Given the description of an element on the screen output the (x, y) to click on. 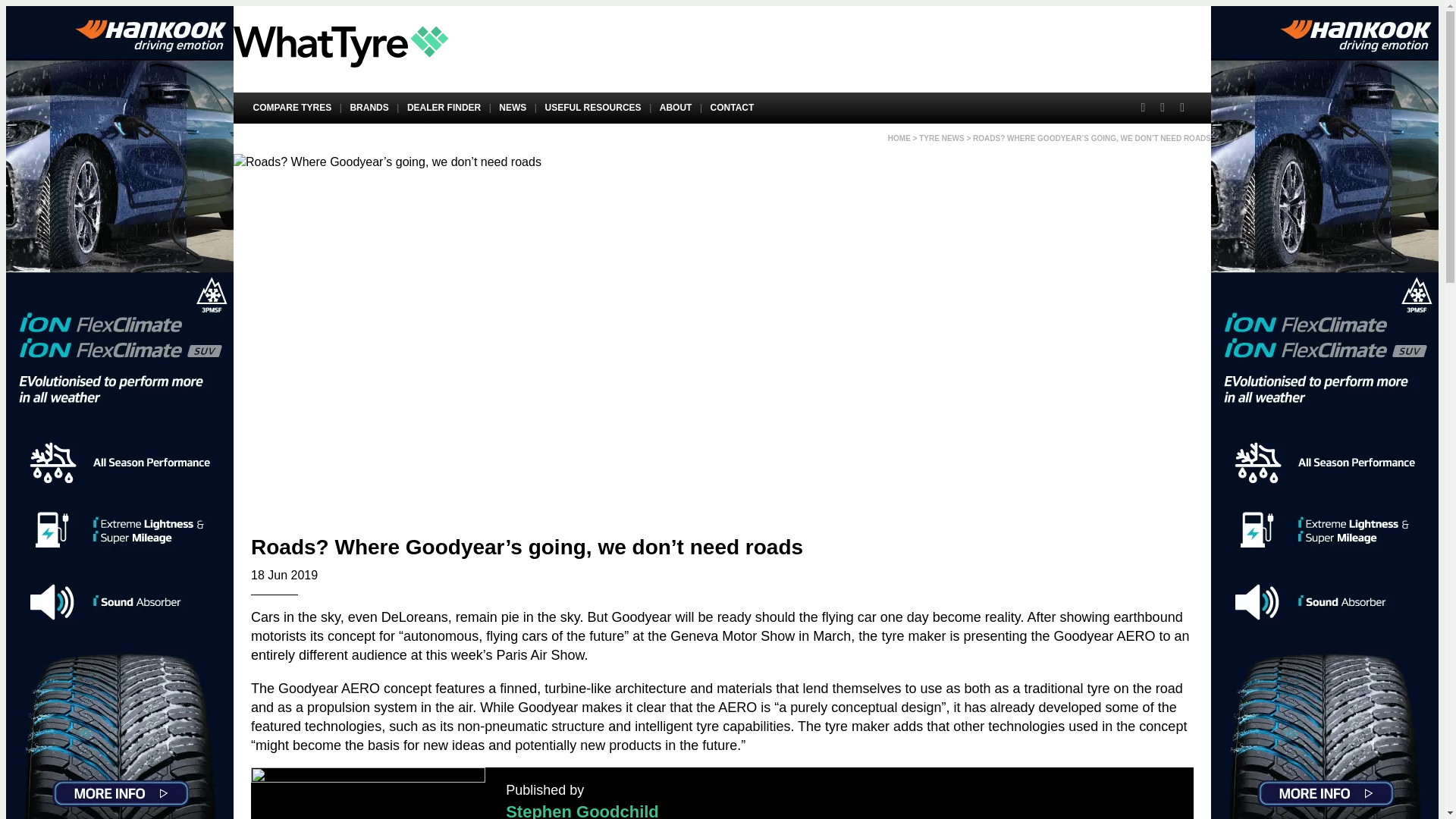
WhatTyre Facebook (1142, 107)
USEFUL RESOURCES (593, 107)
CONTACT (731, 107)
COMPARE TYRES (291, 107)
BRANDS (369, 107)
Stephen Goodchild (582, 809)
ABOUT (675, 107)
WhatTyre Instagram (1182, 107)
TYRE NEWS (940, 138)
DEALER FINDER (442, 107)
HOME (899, 138)
NEWS (513, 107)
WhatTyre Twitter (1162, 107)
